Given the description of an element on the screen output the (x, y) to click on. 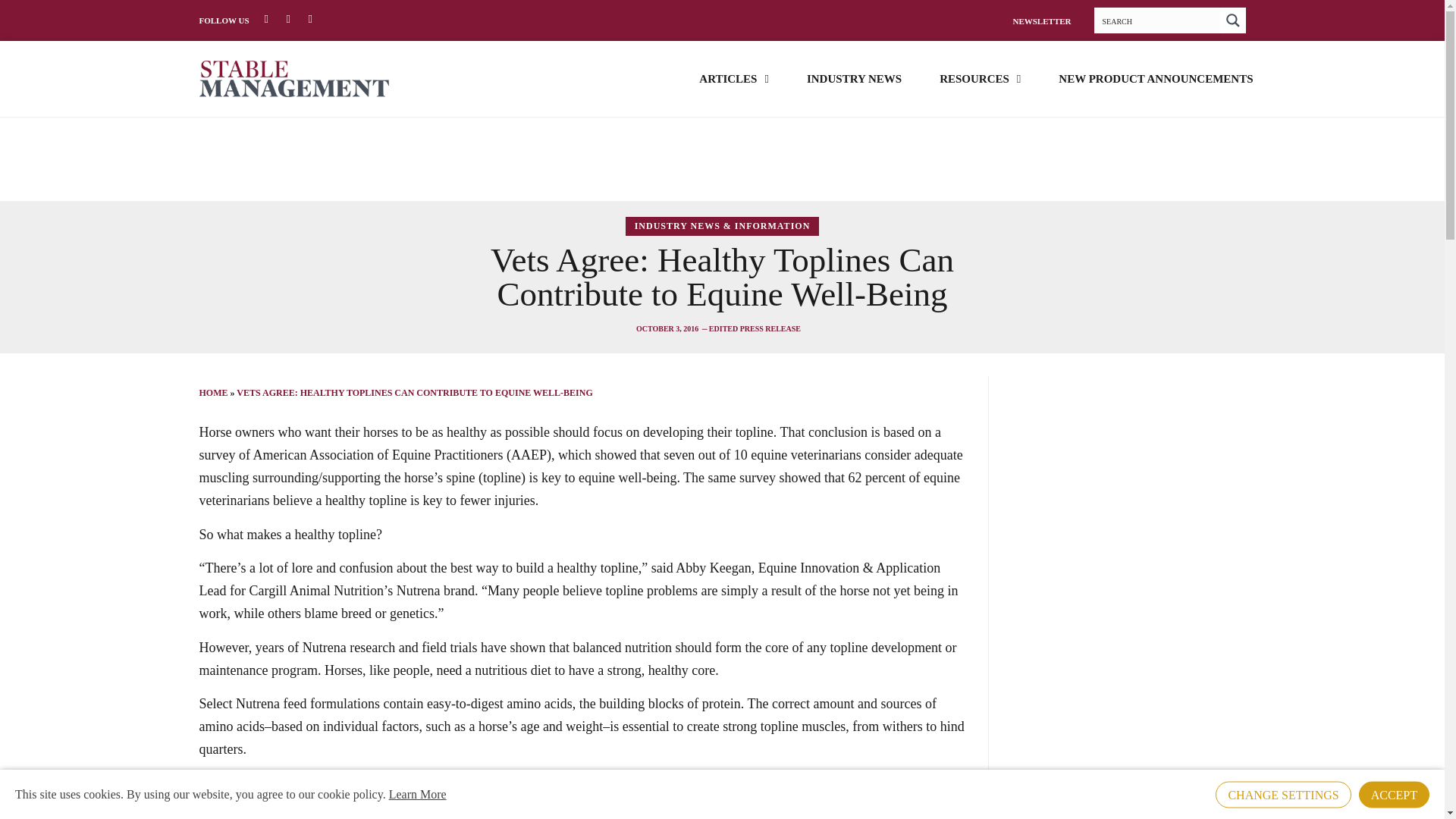
NEWSLETTER (1040, 20)
3rd party ad content (721, 159)
NEW PRODUCT ANNOUNCEMENTS (1155, 78)
RESOURCES (979, 78)
ARTICLES (733, 78)
INDUSTRY NEWS (853, 78)
